Given the description of an element on the screen output the (x, y) to click on. 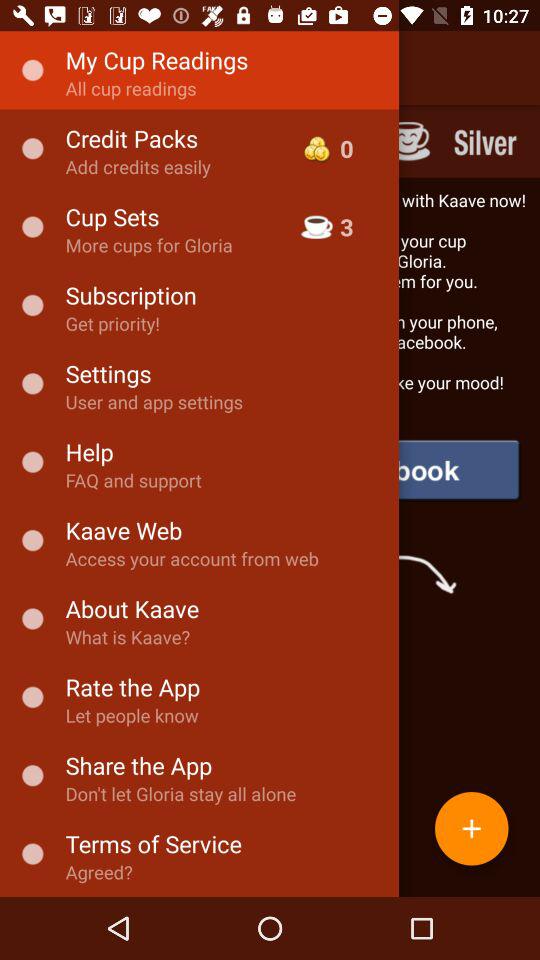
select the icon left to kaave web (32, 540)
